Given the description of an element on the screen output the (x, y) to click on. 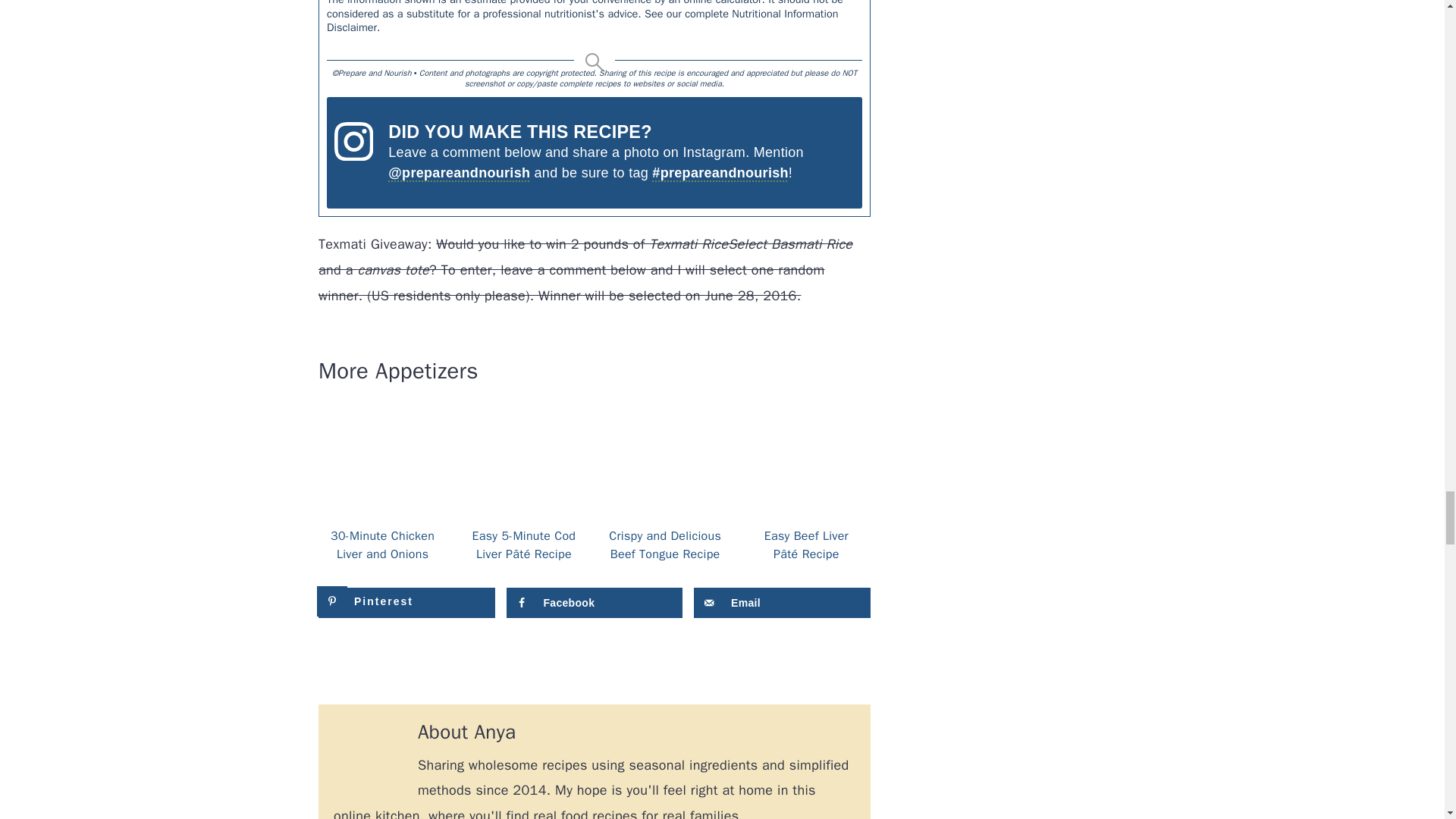
Share on Facebook (594, 603)
Save to Pinterest (406, 603)
Send over email (782, 603)
